Given the description of an element on the screen output the (x, y) to click on. 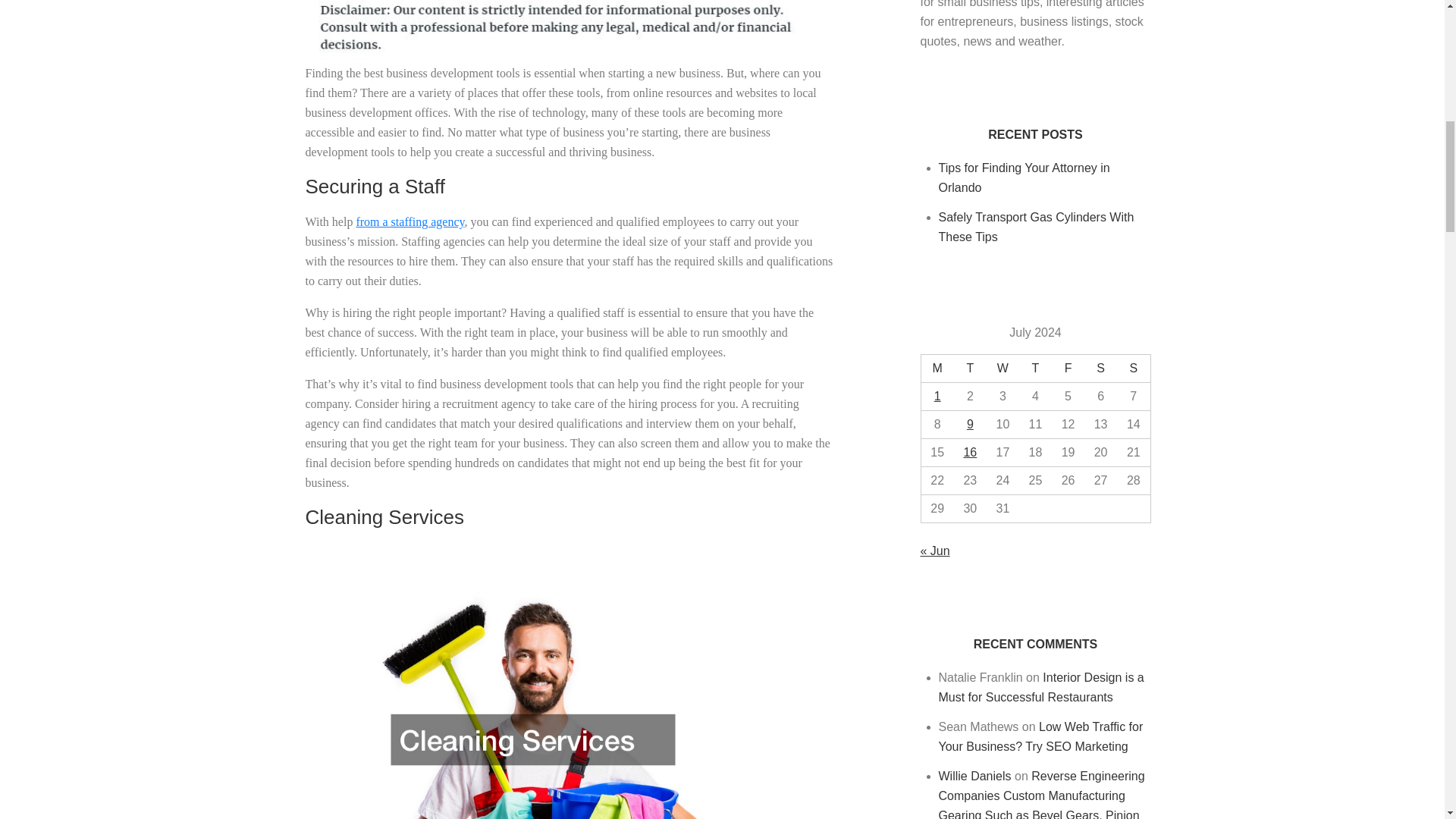
16 (969, 451)
from a staffing agency (409, 221)
Low Web Traffic for Your Business? Try SEO Marketing (1040, 736)
Tips for Finding Your Attorney in Orlando (1024, 177)
Willie Daniels (975, 775)
1 (937, 395)
Tuesday (970, 368)
Safely Transport Gas Cylinders With These Tips (1036, 226)
Interior Design is a Must for Successful Restaurants (1041, 686)
Sunday (1133, 368)
9 (970, 423)
Thursday (1035, 368)
Friday (1067, 368)
Wednesday (1003, 368)
